Given the description of an element on the screen output the (x, y) to click on. 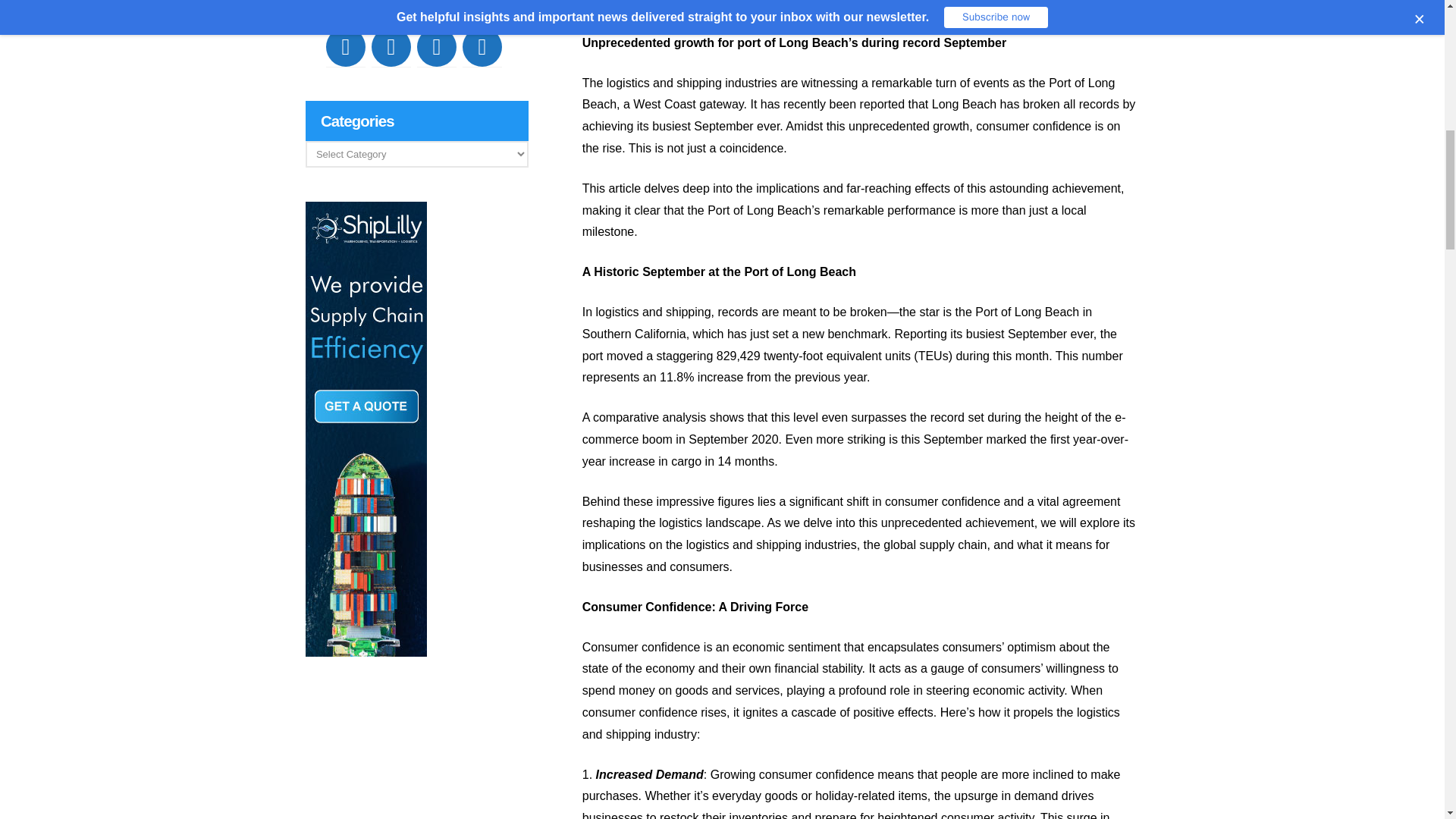
Newsletter (482, 46)
LinkedIn (390, 46)
Twitter (436, 46)
Facebook (345, 46)
